Given the description of an element on the screen output the (x, y) to click on. 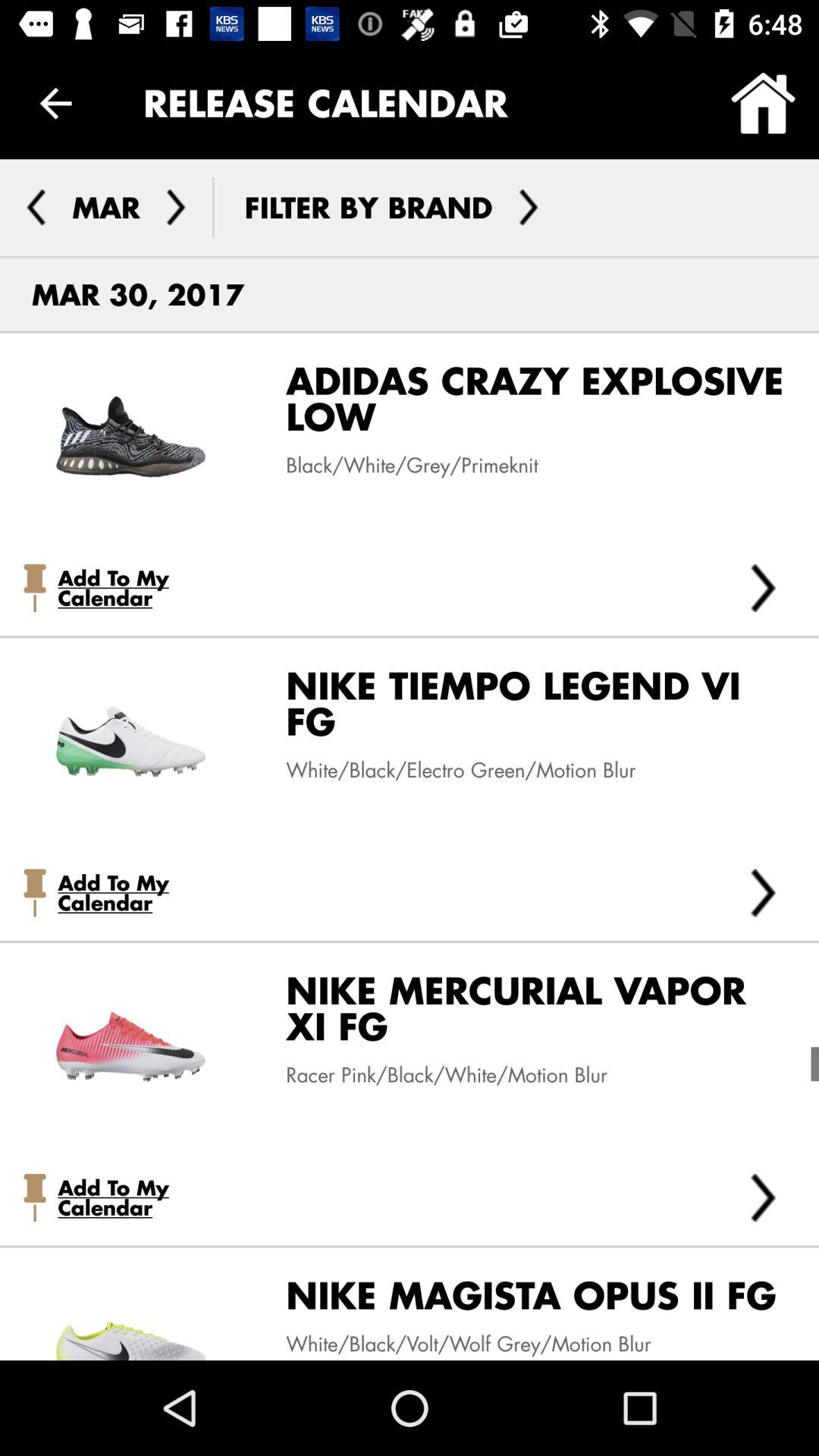
click the adidas crazy explosive icon (524, 404)
